Given the description of an element on the screen output the (x, y) to click on. 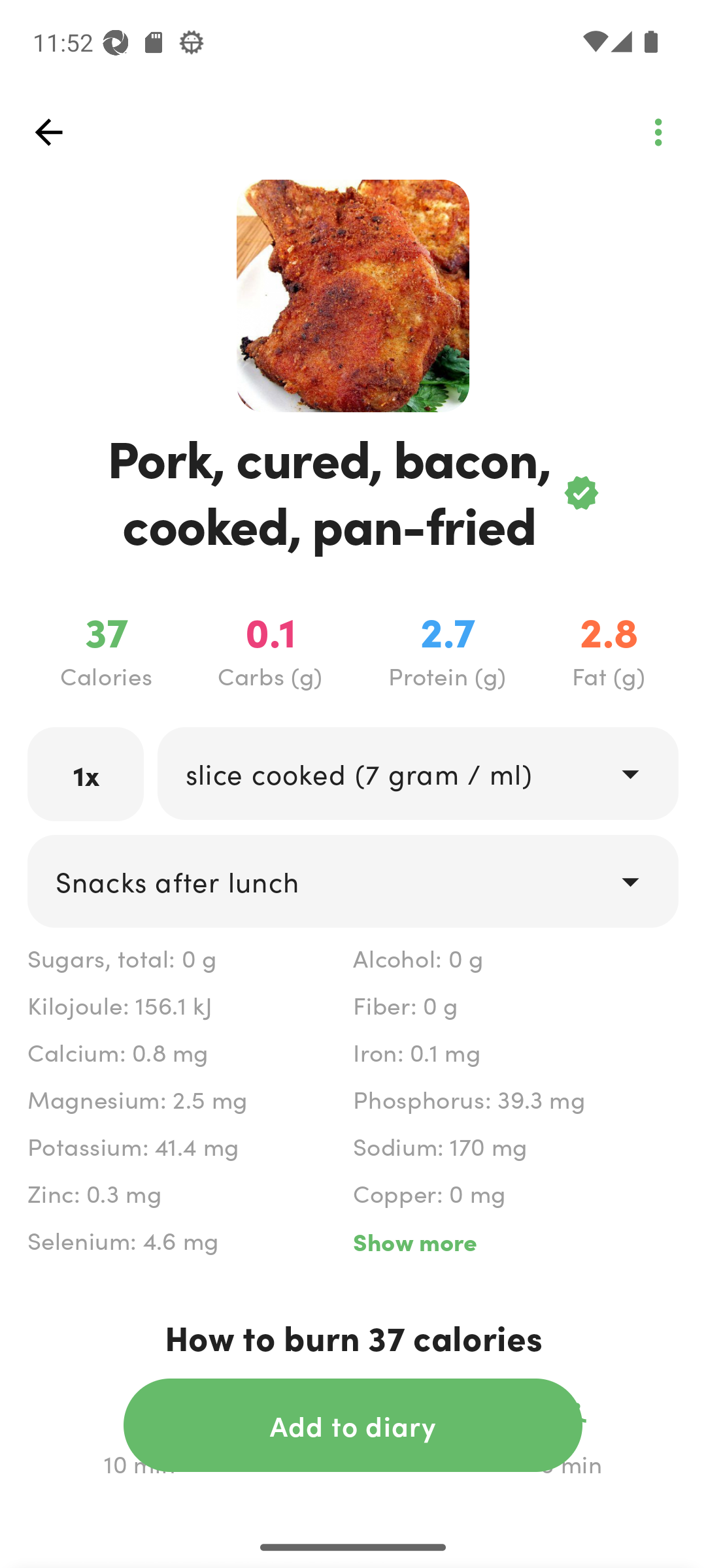
top_left_action (48, 132)
top_left_action (658, 132)
1x labeled_edit_text (85, 774)
drop_down slice cooked (7 gram / ml) (417, 773)
drop_down Snacks after lunch (352, 881)
Show more (515, 1240)
action_button Add to diary (352, 1425)
